Given the description of an element on the screen output the (x, y) to click on. 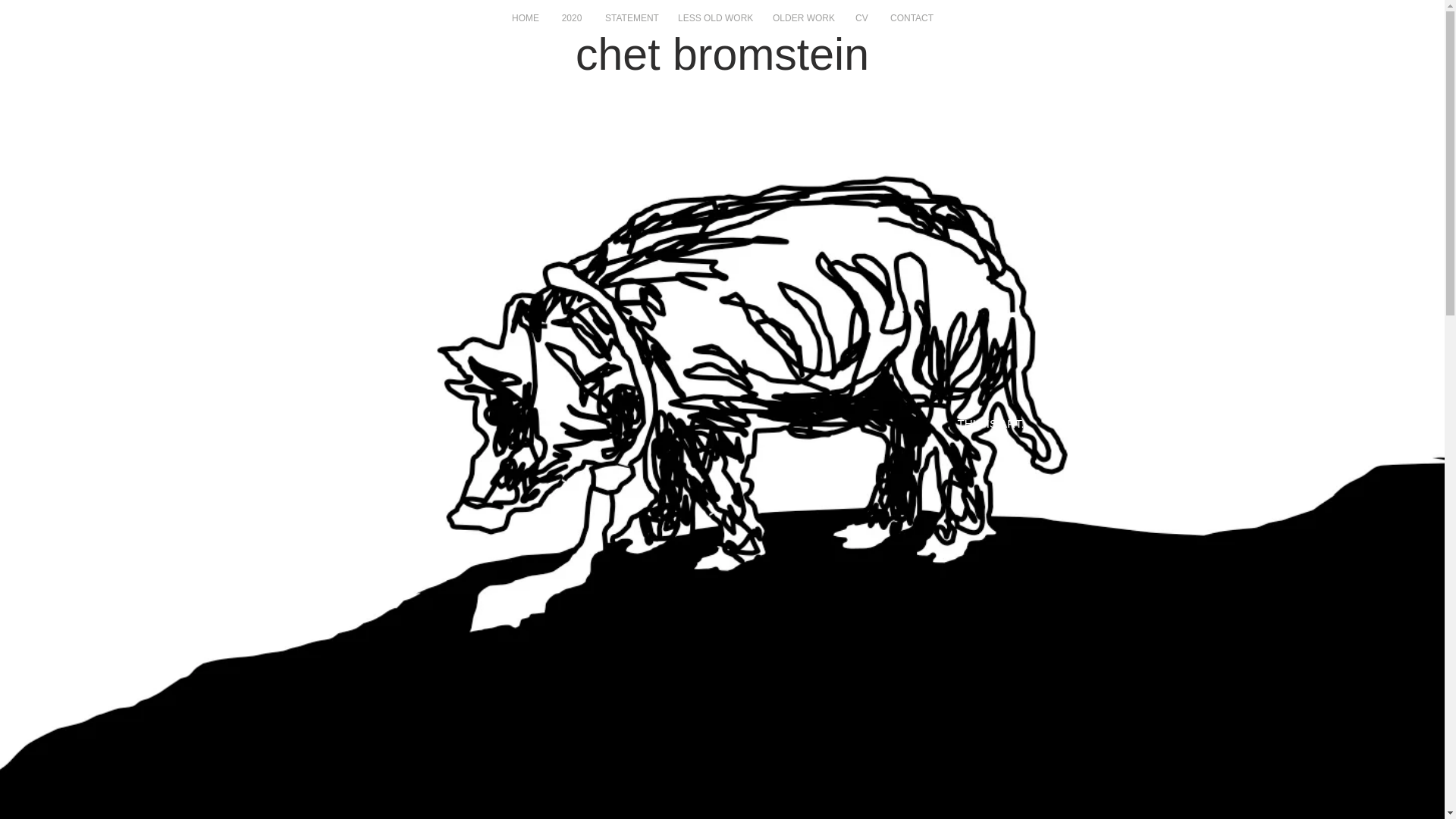
LESS OLD WORK (713, 18)
HOME (525, 18)
STATEMENT (630, 18)
CV (861, 18)
CONTACT (911, 18)
2020 (572, 18)
OLDER WORK (802, 18)
